Given the description of an element on the screen output the (x, y) to click on. 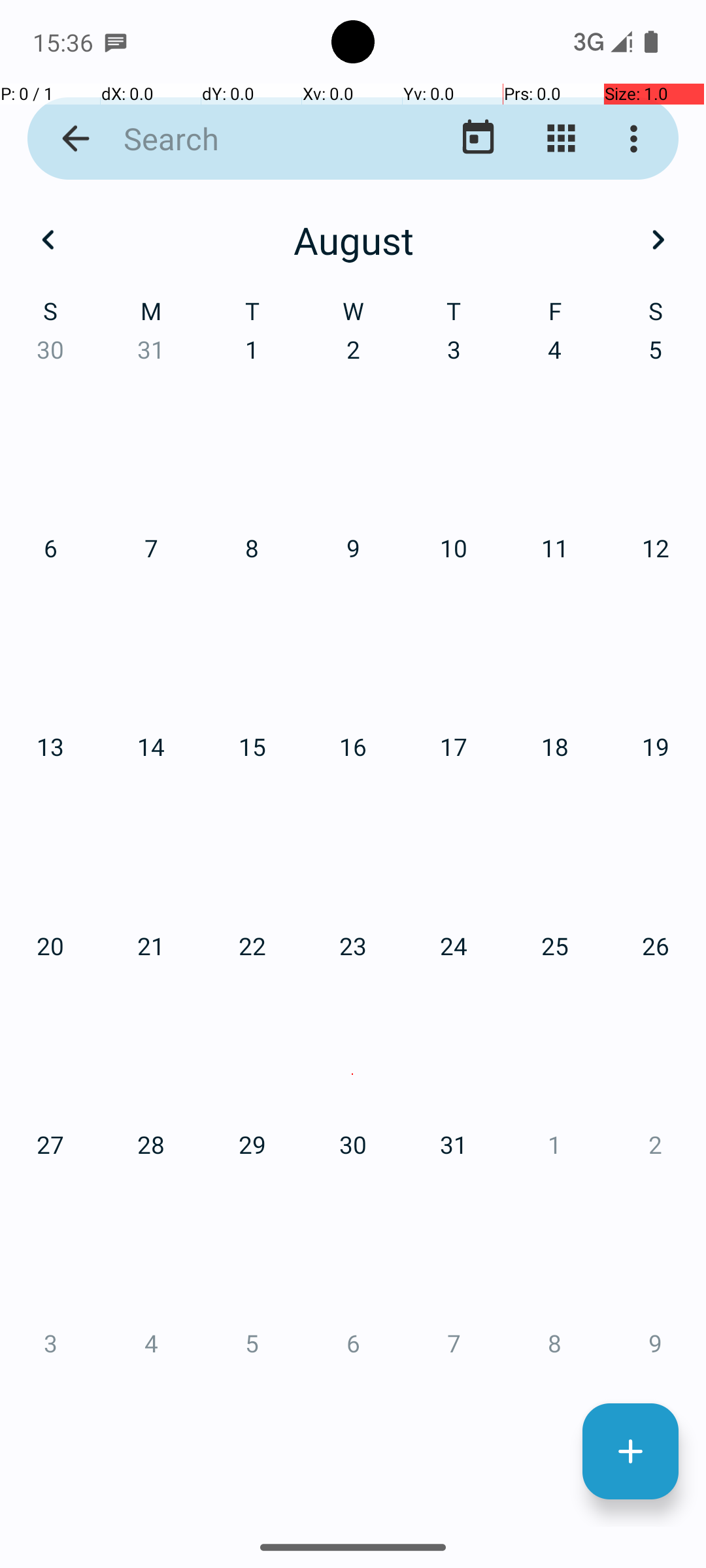
JANUARY Element type: android.widget.TextView (123, 319)
FEBRUARY Element type: android.widget.TextView (352, 319)
MARCH Element type: android.widget.TextView (582, 319)
APRIL Element type: android.widget.TextView (123, 621)
MAY Element type: android.widget.TextView (352, 621)
JUNE Element type: android.widget.TextView (582, 621)
JULY Element type: android.widget.TextView (123, 923)
AUGUST Element type: android.widget.TextView (352, 923)
SEPTEMBER Element type: android.widget.TextView (582, 923)
OCTOBER Element type: android.widget.TextView (123, 1224)
NOVEMBER Element type: android.widget.TextView (352, 1224)
DECEMBER Element type: android.widget.TextView (582, 1224)
August Element type: android.widget.TextView (352, 239)
15:36 Element type: android.widget.TextView (64, 41)
